Given the description of an element on the screen output the (x, y) to click on. 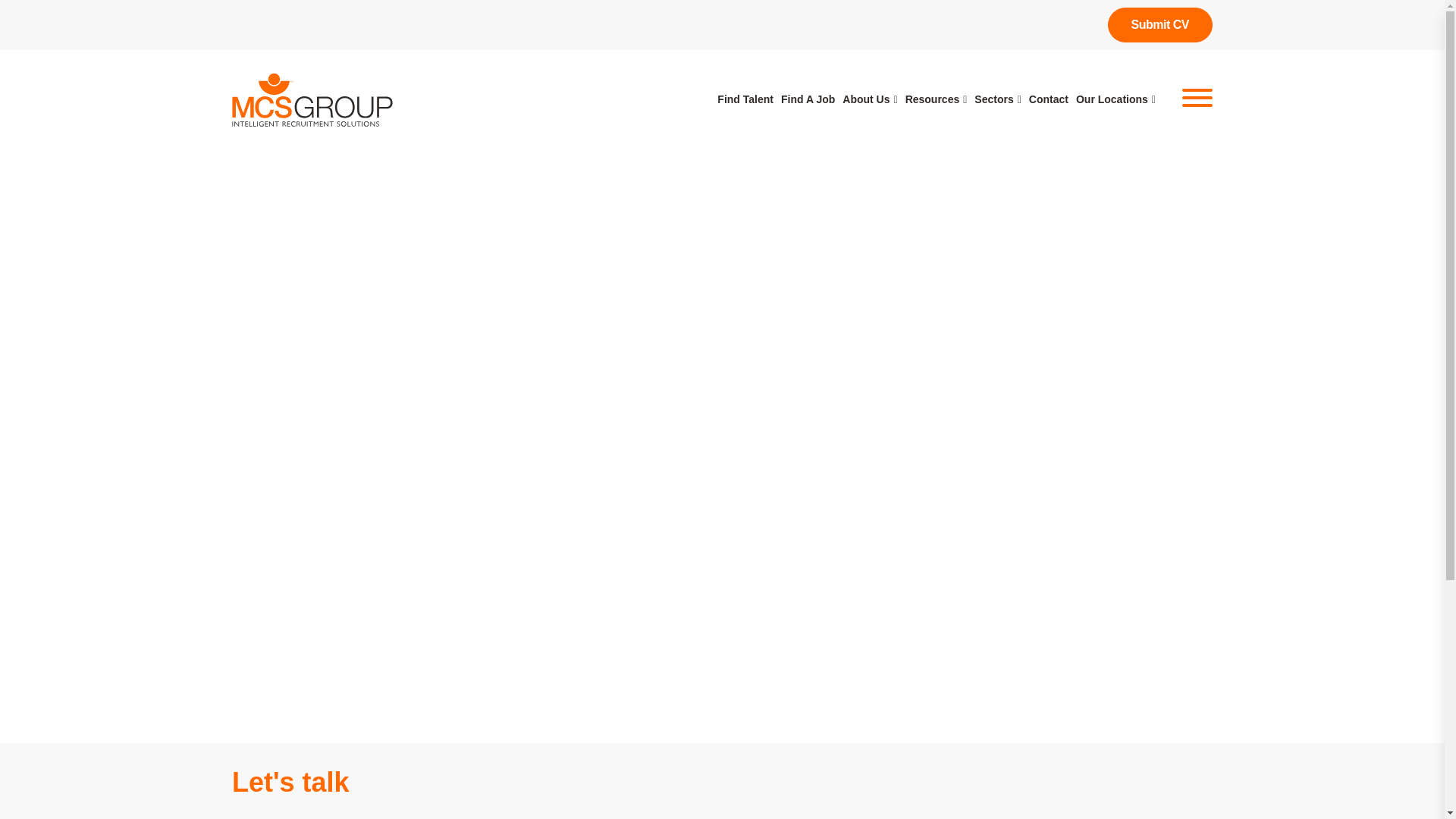
Submit CV (1160, 24)
Sectors (997, 99)
Our Locations (1115, 99)
Contact (1048, 99)
Find Talent (745, 99)
Find A Job (807, 99)
Resources (936, 99)
About Us (869, 99)
